Given the description of an element on the screen output the (x, y) to click on. 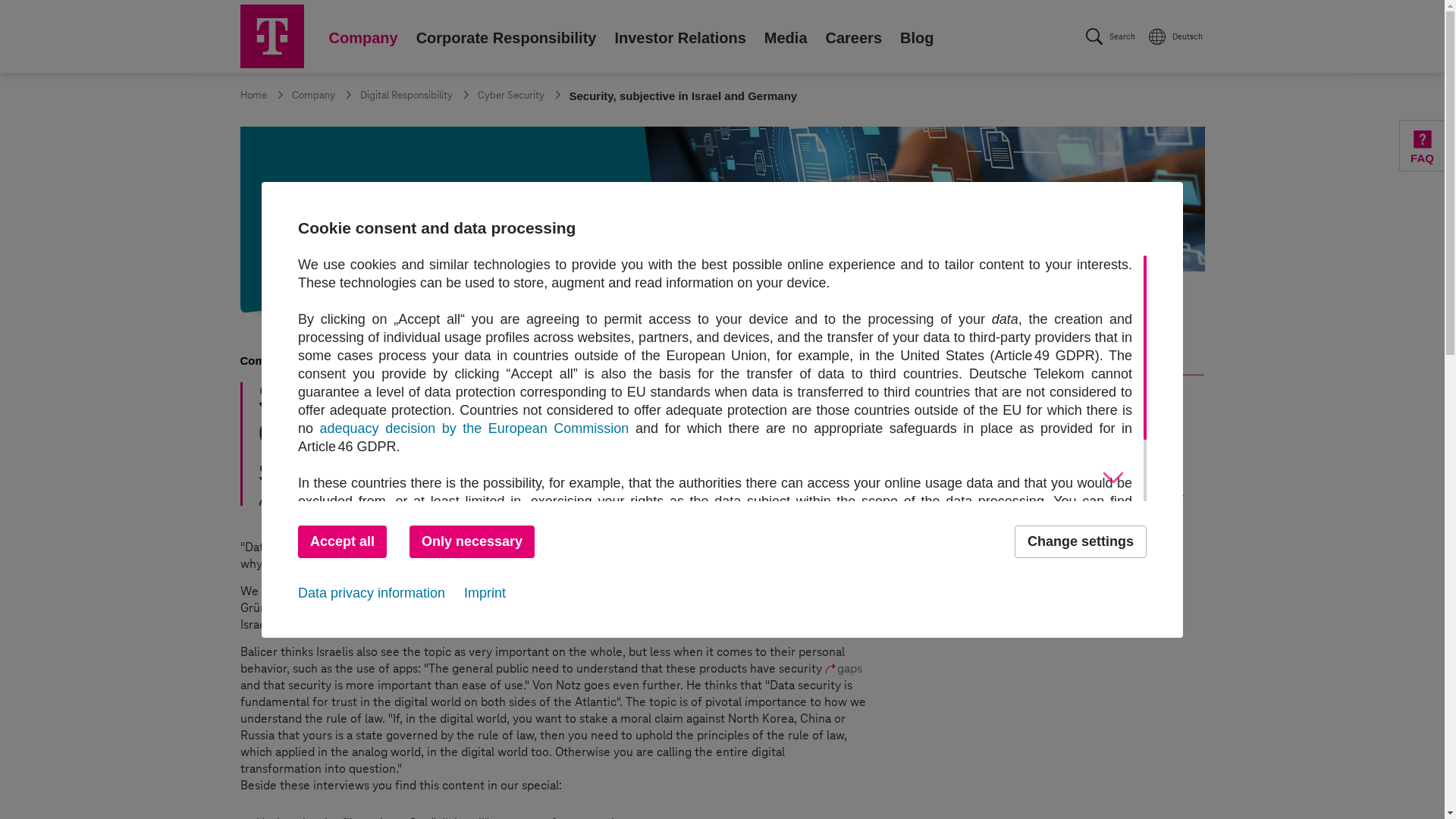
Home (362, 36)
Corporate Responsibility (271, 35)
